Given the description of an element on the screen output the (x, y) to click on. 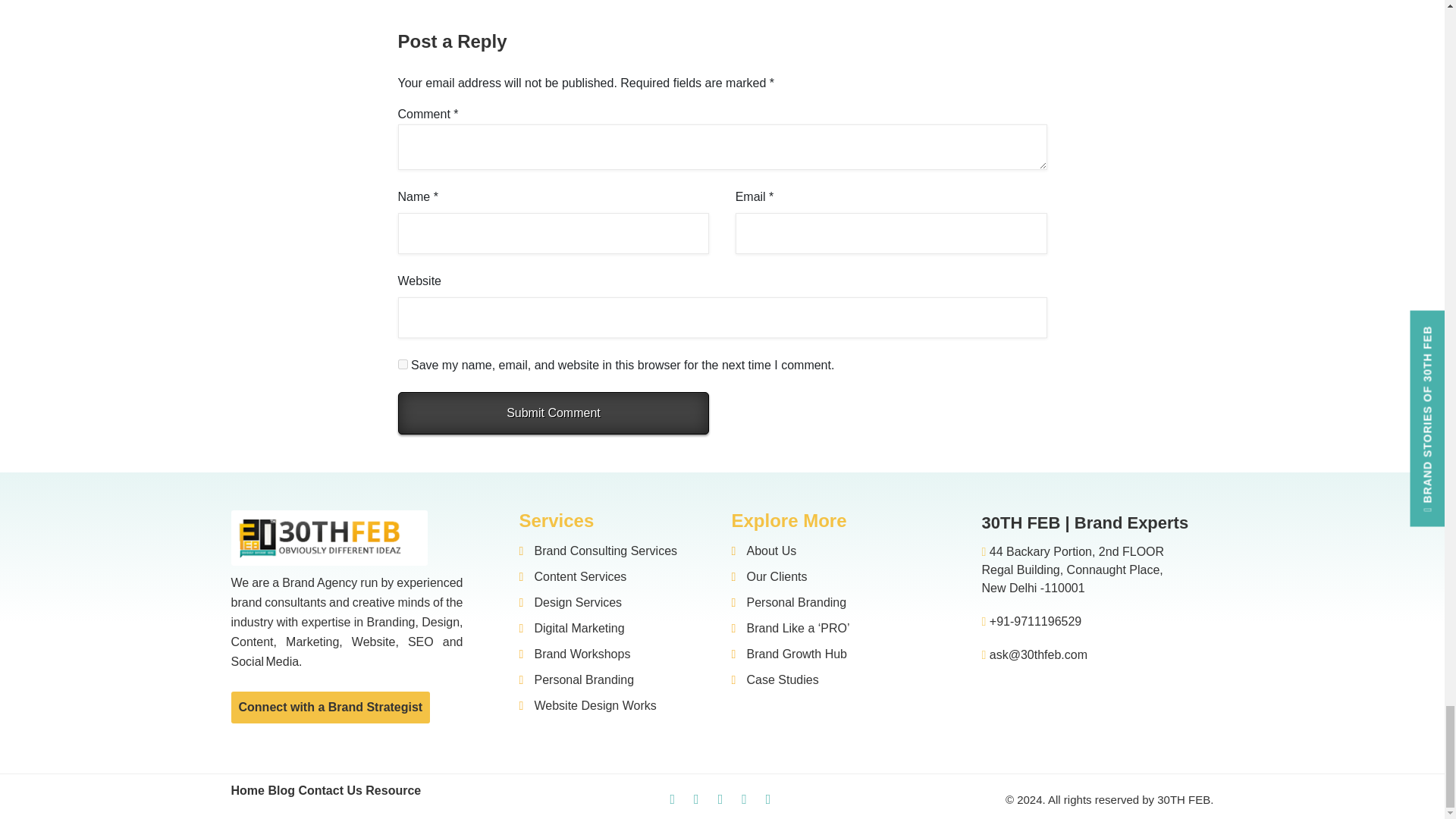
yes (402, 364)
Submit Comment (553, 413)
Brand Marketing Company in India (328, 537)
